Given the description of an element on the screen output the (x, y) to click on. 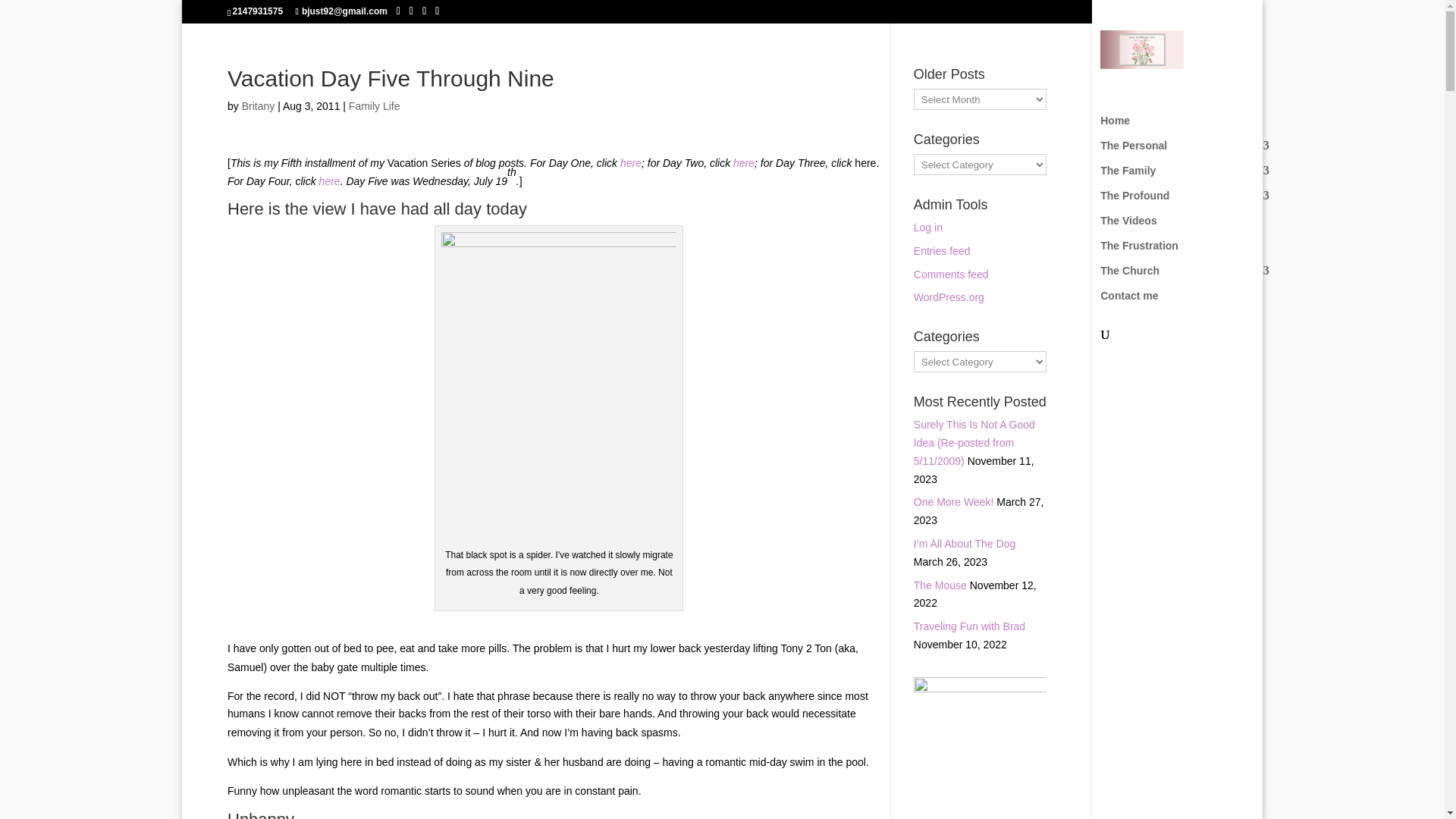
The Personal (1192, 152)
The Profound (1192, 202)
Home (1192, 127)
Posts by Britany (258, 105)
The Family (1192, 177)
